Given the description of an element on the screen output the (x, y) to click on. 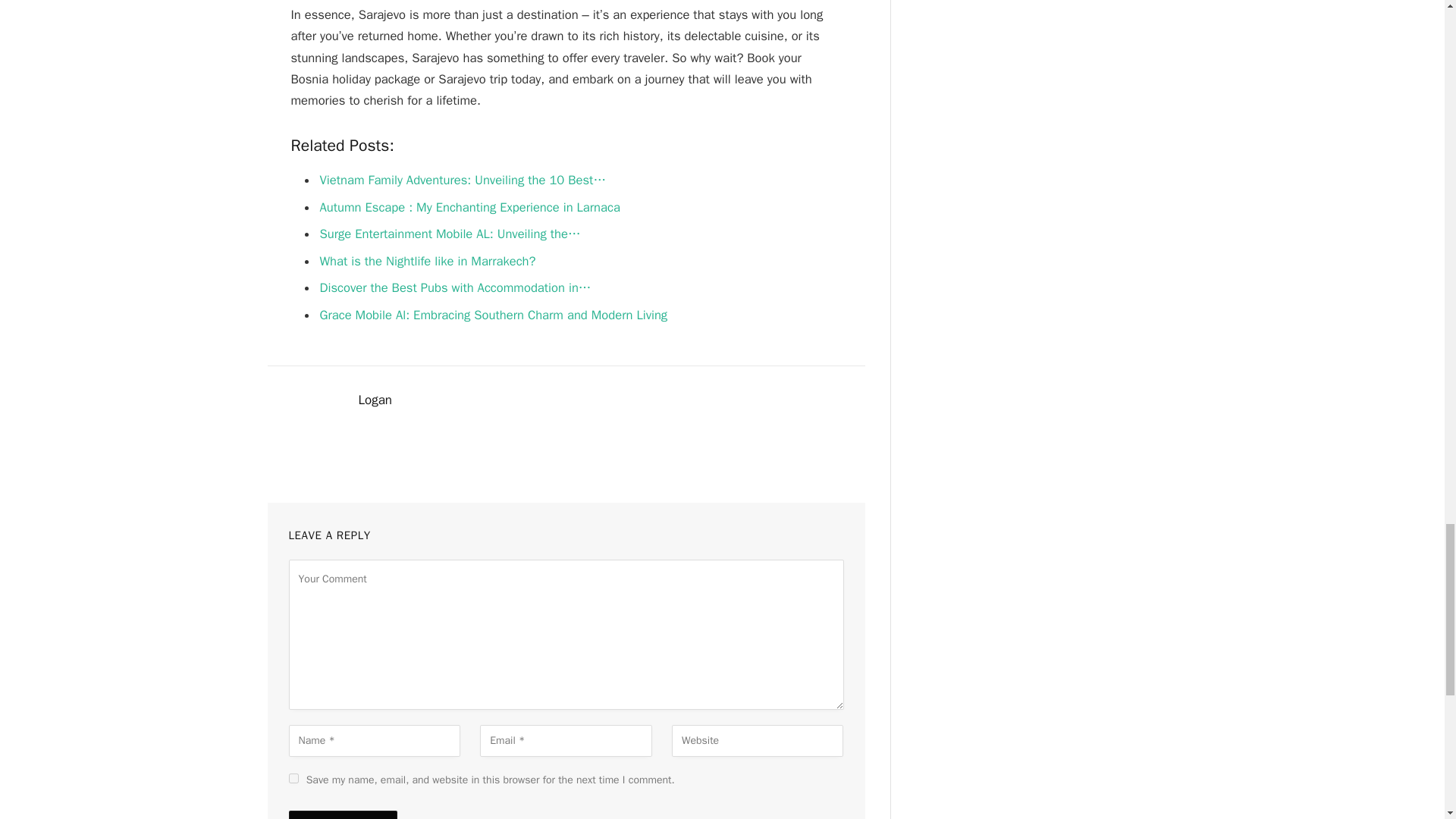
Posts by Logan (374, 400)
Post Comment (342, 814)
yes (293, 777)
